Given the description of an element on the screen output the (x, y) to click on. 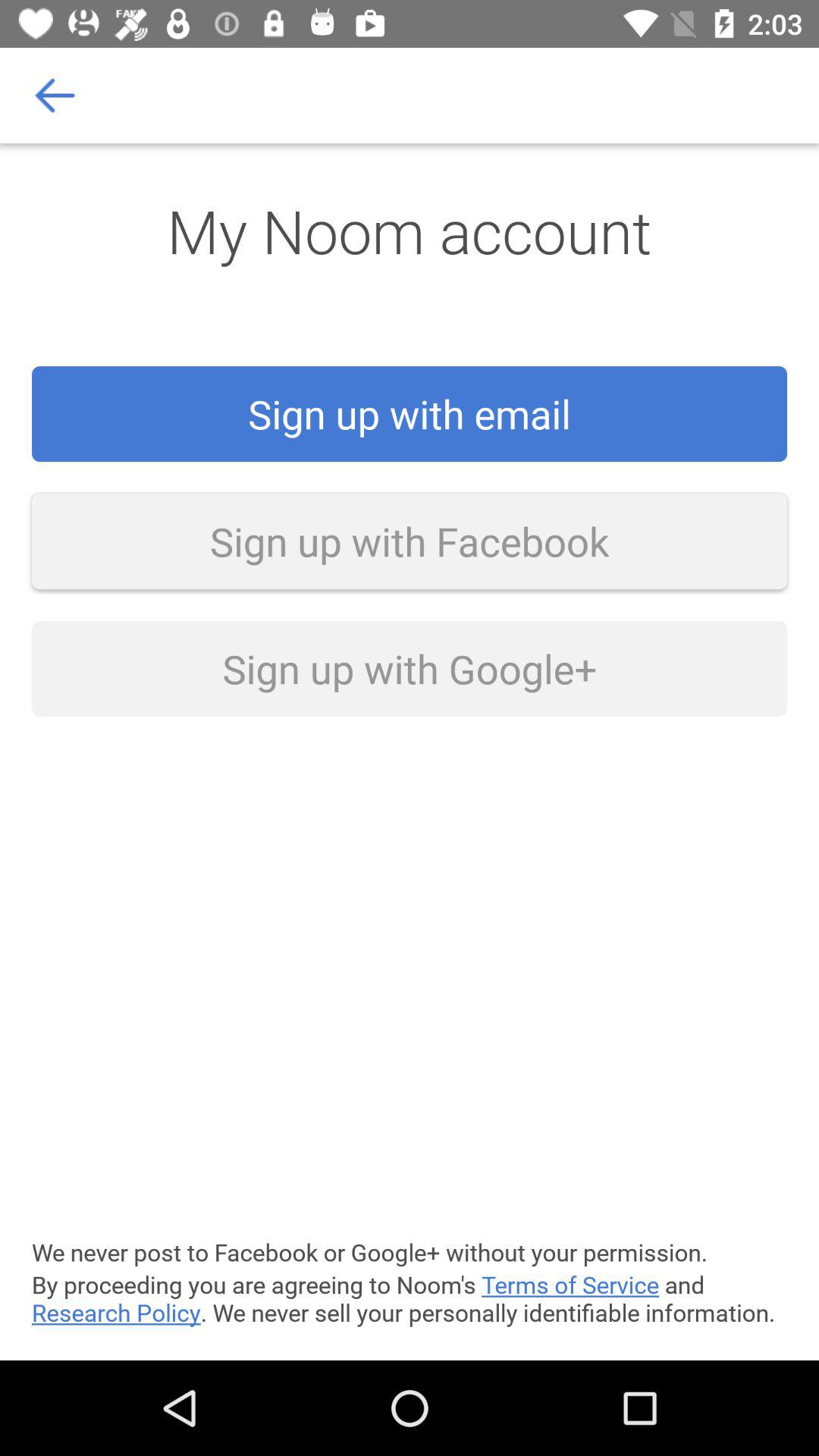
open the item above sign up with item (55, 95)
